Given the description of an element on the screen output the (x, y) to click on. 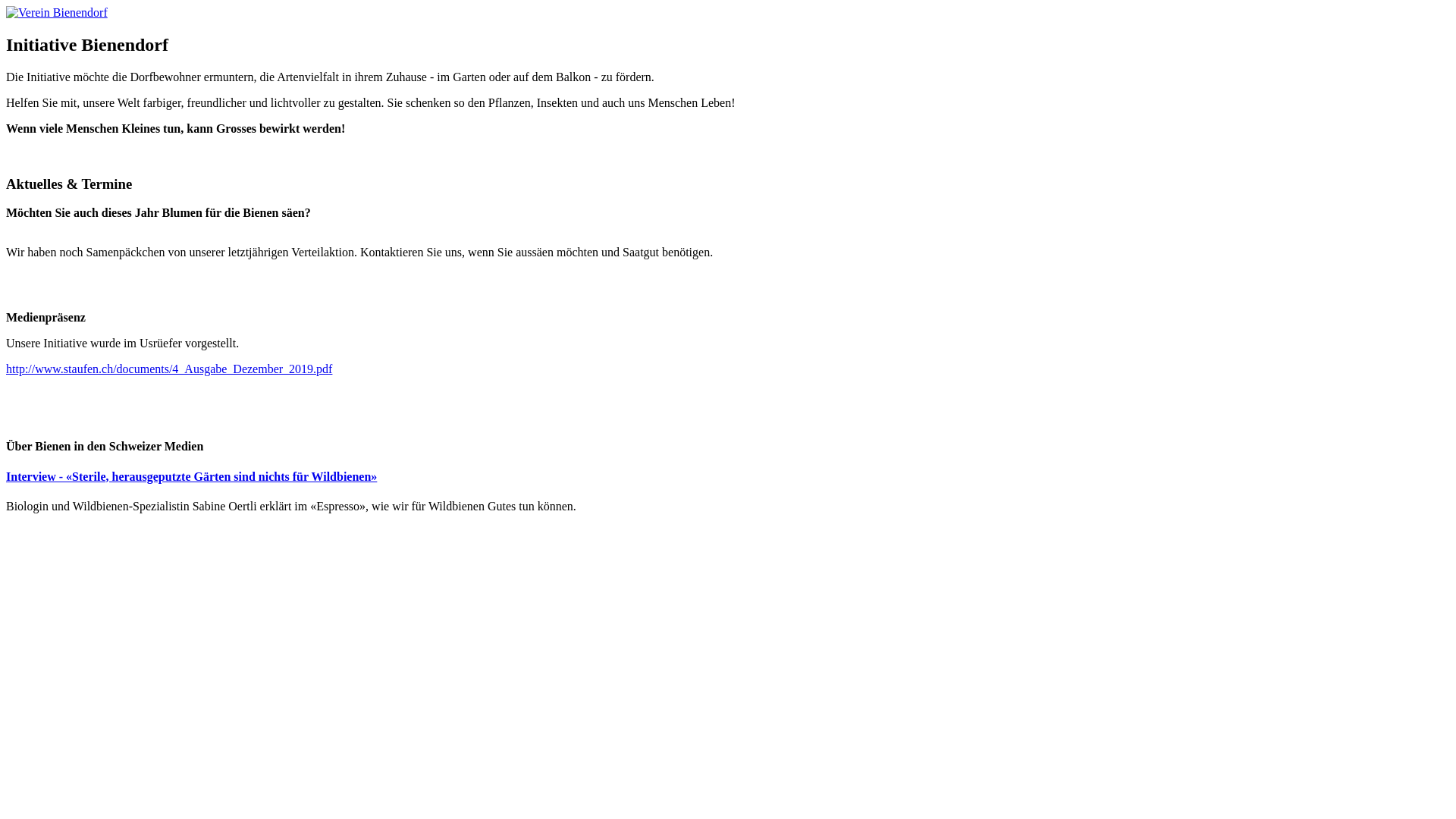
http://www.staufen.ch/documents/4_Ausgabe_Dezember_2019.pdf Element type: text (169, 368)
Verein Bienendorf Element type: hover (56, 12)
